Given the description of an element on the screen output the (x, y) to click on. 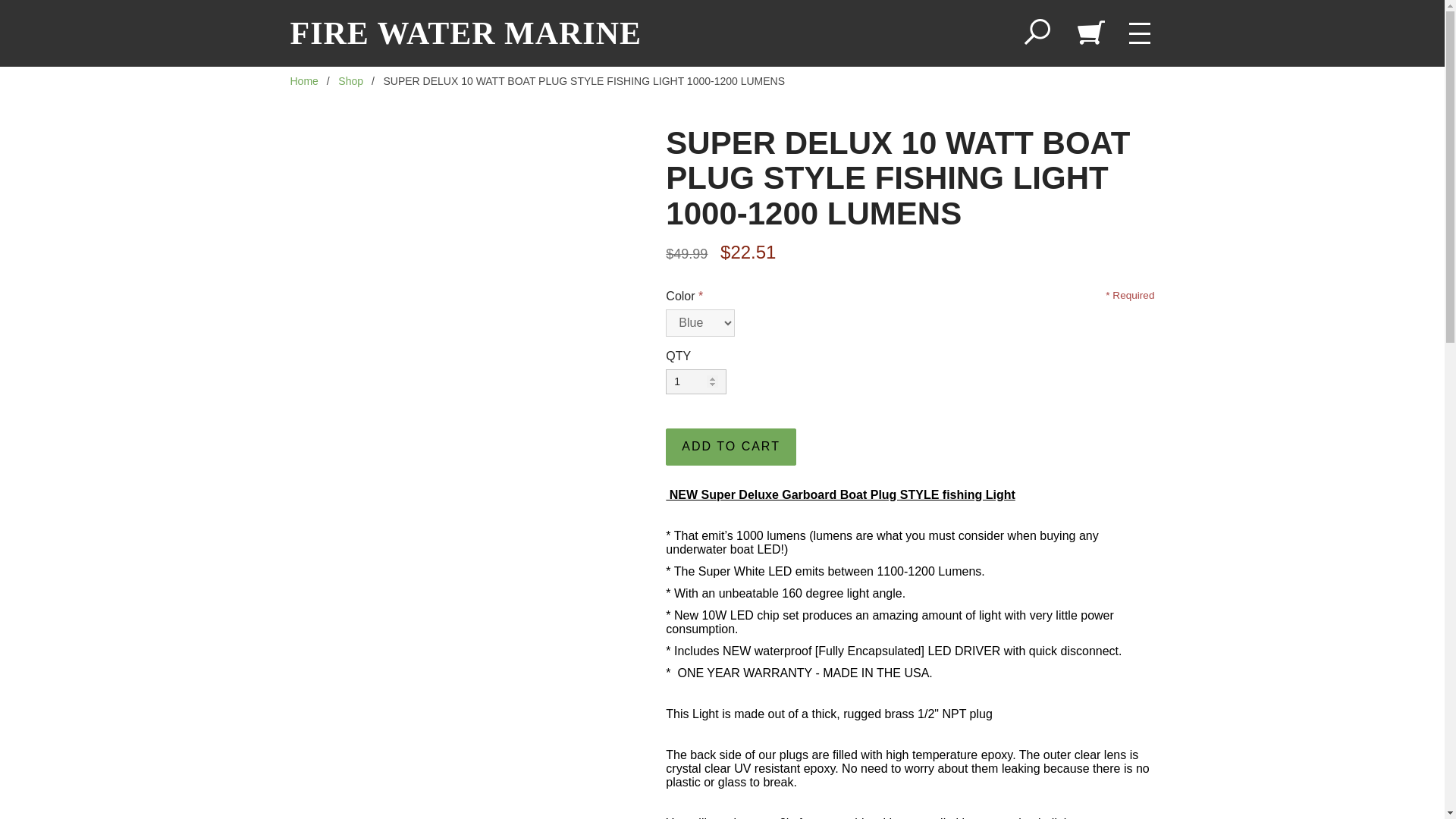
Add to Cart (730, 447)
Shop (349, 80)
1 (695, 381)
Home (303, 80)
Add to Cart (730, 447)
FIRE WATER MARINE (465, 32)
